Given the description of an element on the screen output the (x, y) to click on. 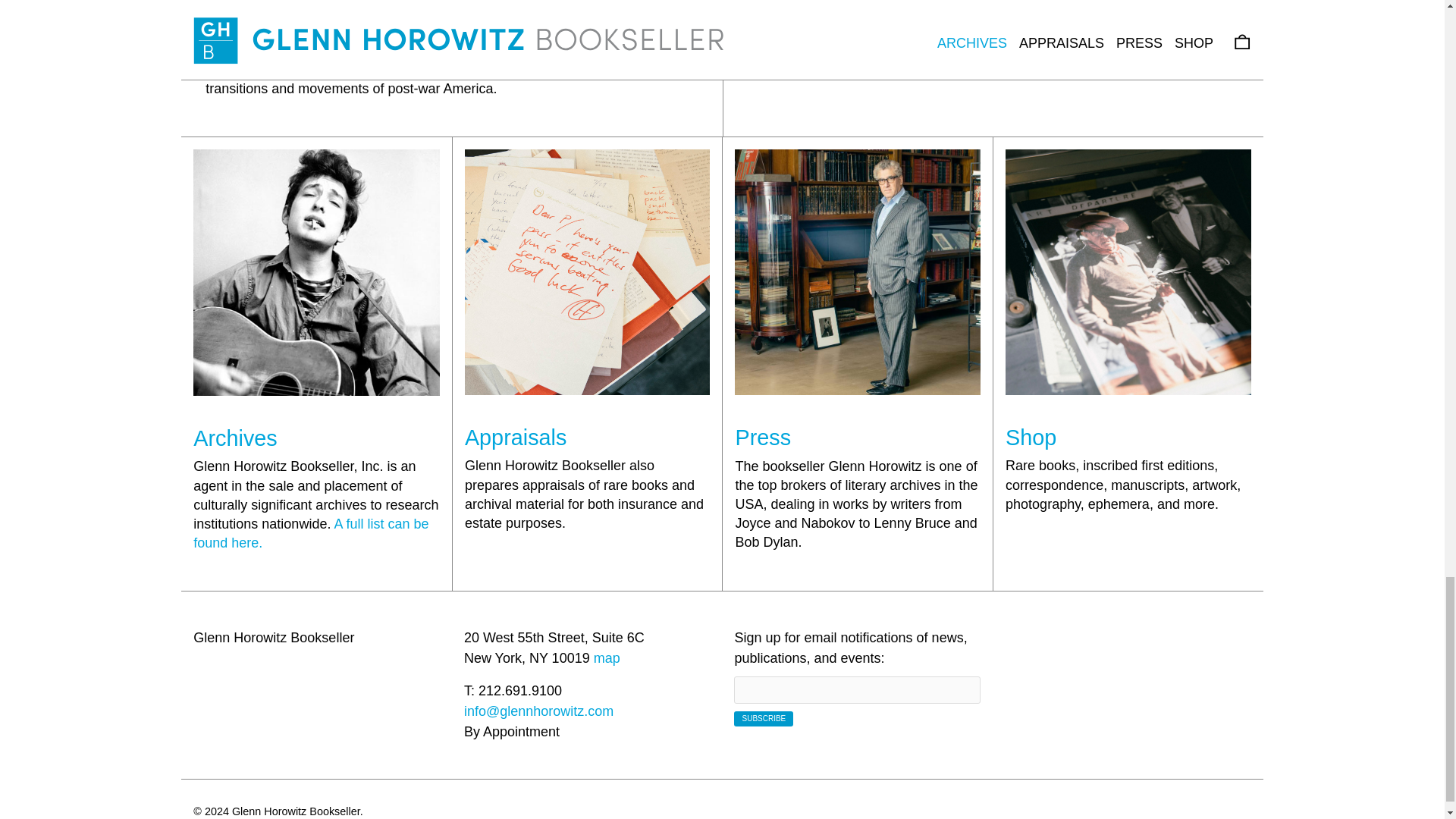
Archives (234, 437)
A full list can be found here. (310, 533)
Press (762, 437)
SUBSCRIBE (763, 718)
map (607, 657)
Shop (1031, 437)
Appraisals (515, 437)
